Given the description of an element on the screen output the (x, y) to click on. 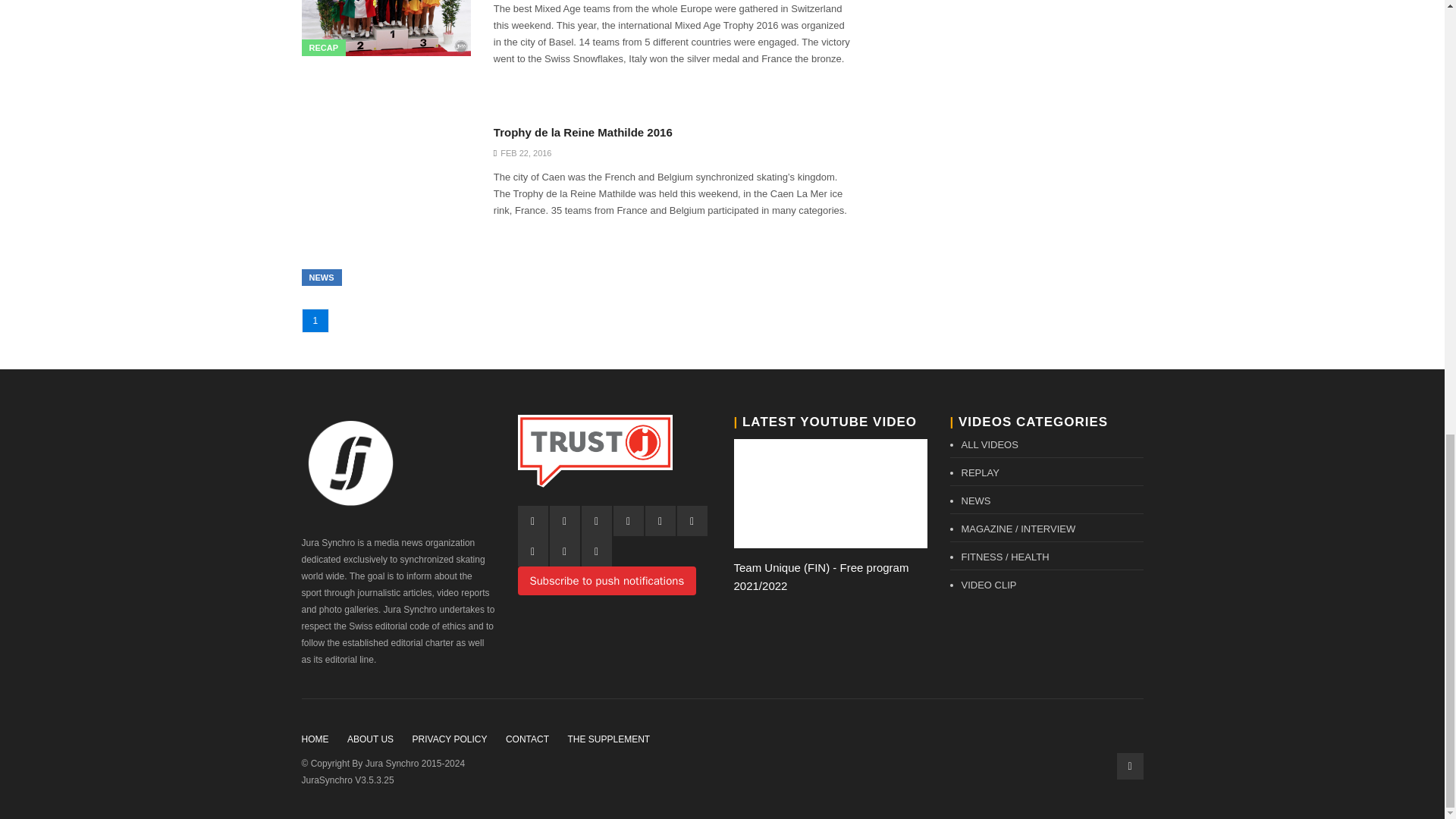
RECAP (323, 47)
